Given the description of an element on the screen output the (x, y) to click on. 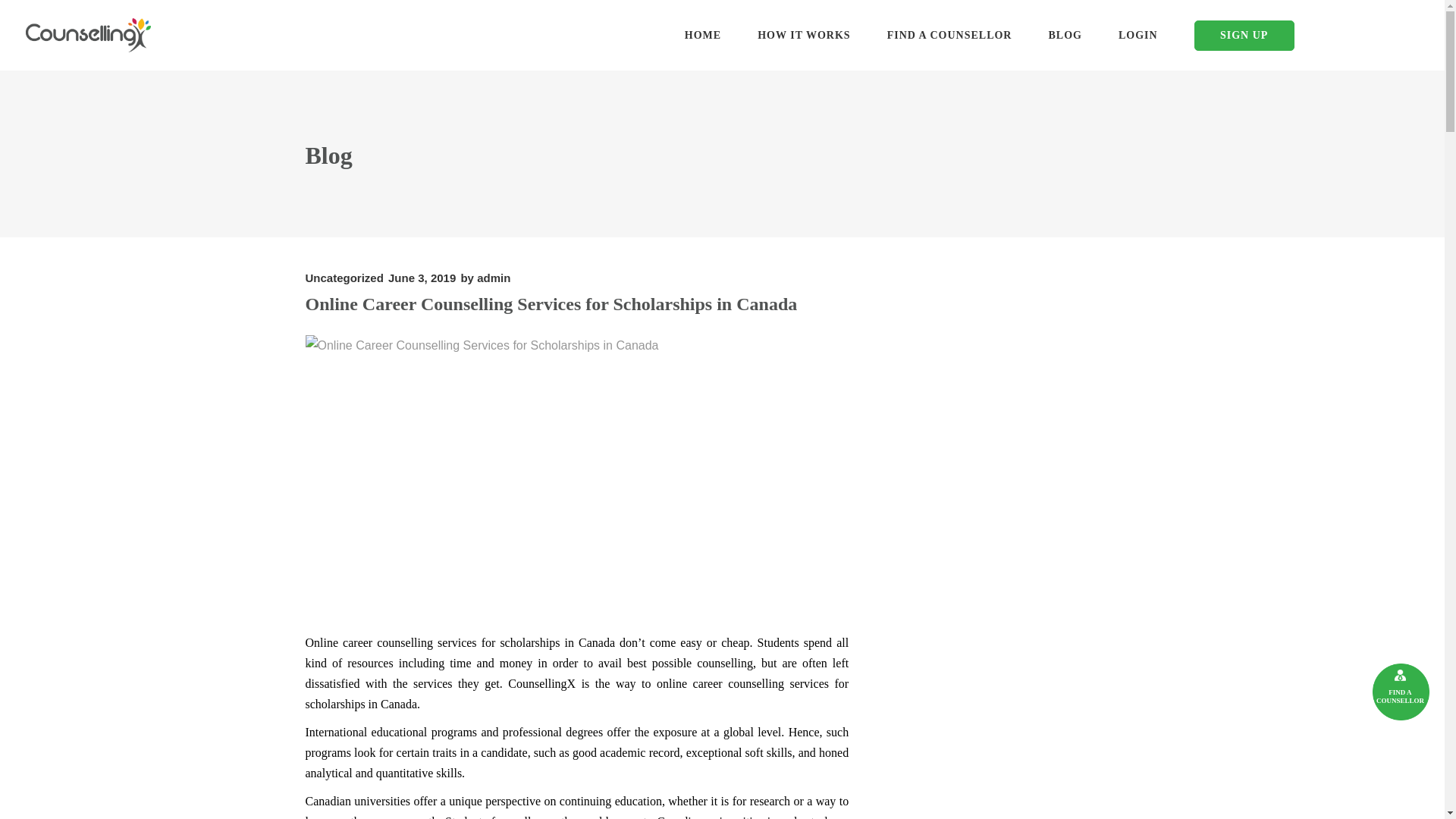
HOW IT WORKS (803, 35)
HOME (702, 35)
SIGN UP (1244, 35)
BLOG (1064, 35)
LOGIN (1138, 35)
FIND A COUNSELLOR (949, 35)
